Given the description of an element on the screen output the (x, y) to click on. 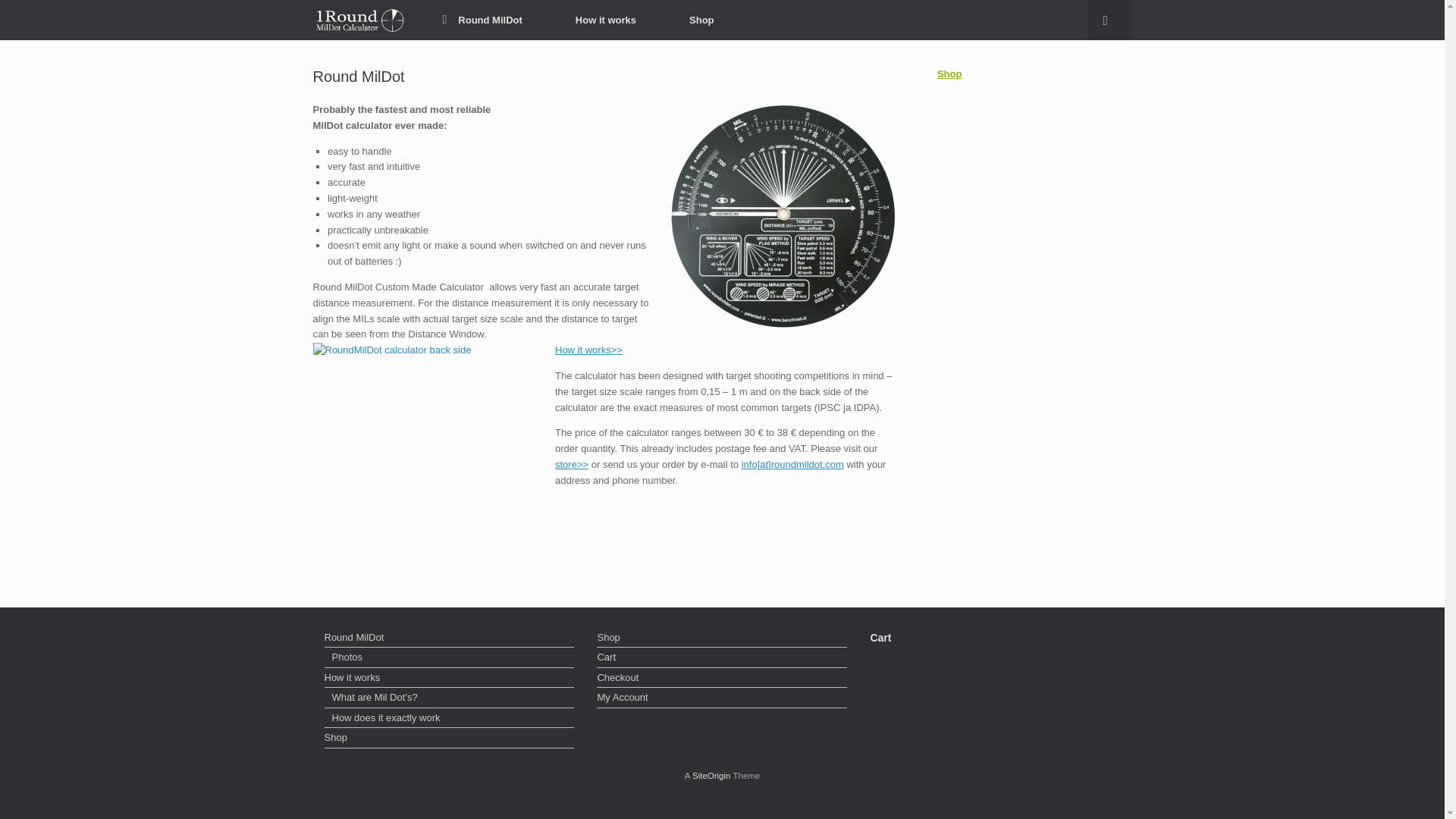
Shop (949, 73)
Checkout (721, 679)
How does it exactly work (449, 719)
Shop (701, 20)
Shop (721, 638)
Photos (449, 659)
Shop (449, 739)
SiteOrigin (711, 775)
1 Round MilDot Calculator (358, 20)
How it works (449, 679)
